Given the description of an element on the screen output the (x, y) to click on. 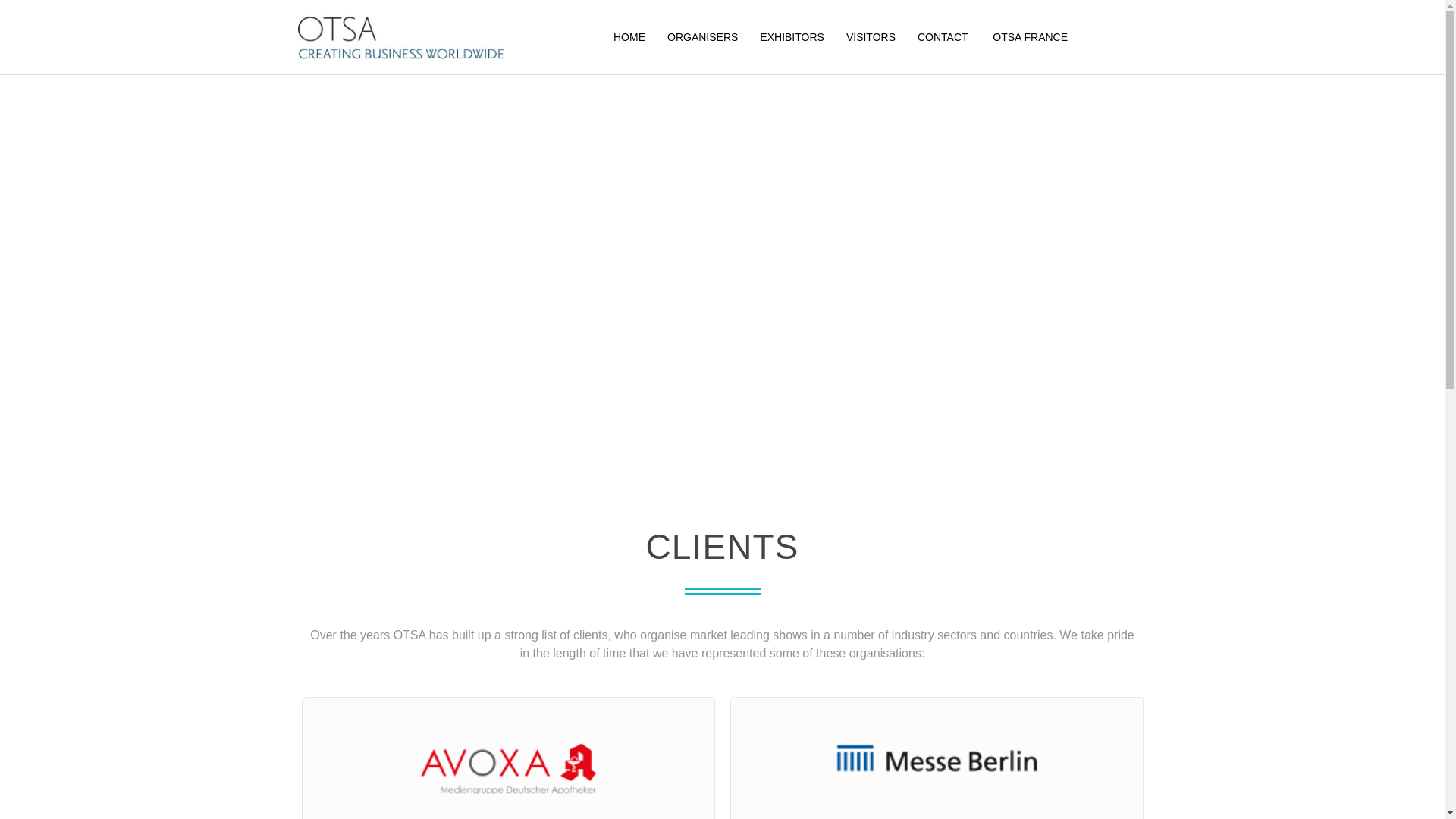
VISITORS (870, 36)
OTSA FRANCE (1029, 36)
HOME (628, 36)
ORGANISERS (702, 36)
CONTACT  (944, 36)
EXHIBITORS (792, 36)
